Given the description of an element on the screen output the (x, y) to click on. 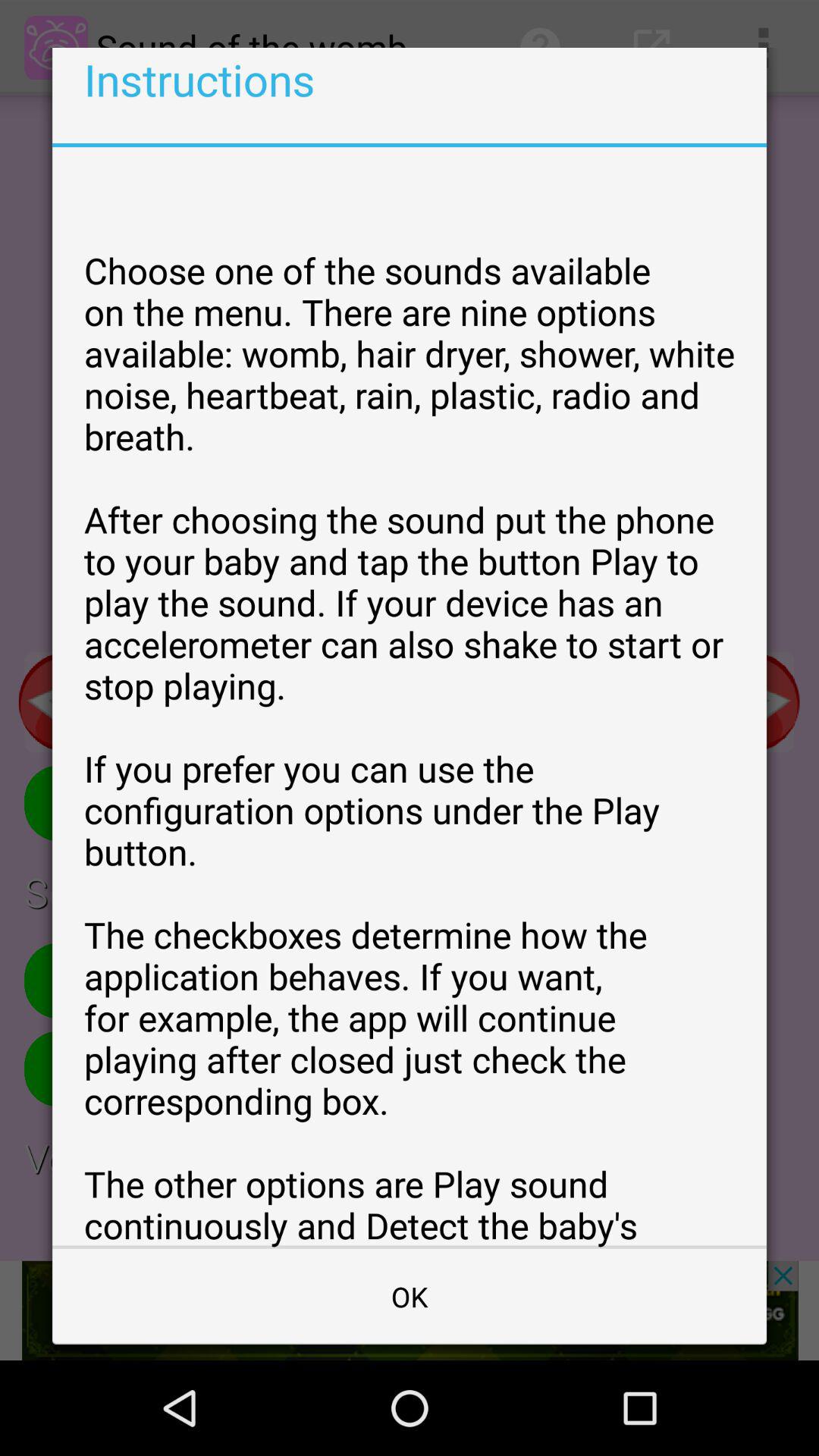
click the ok icon (409, 1296)
